Given the description of an element on the screen output the (x, y) to click on. 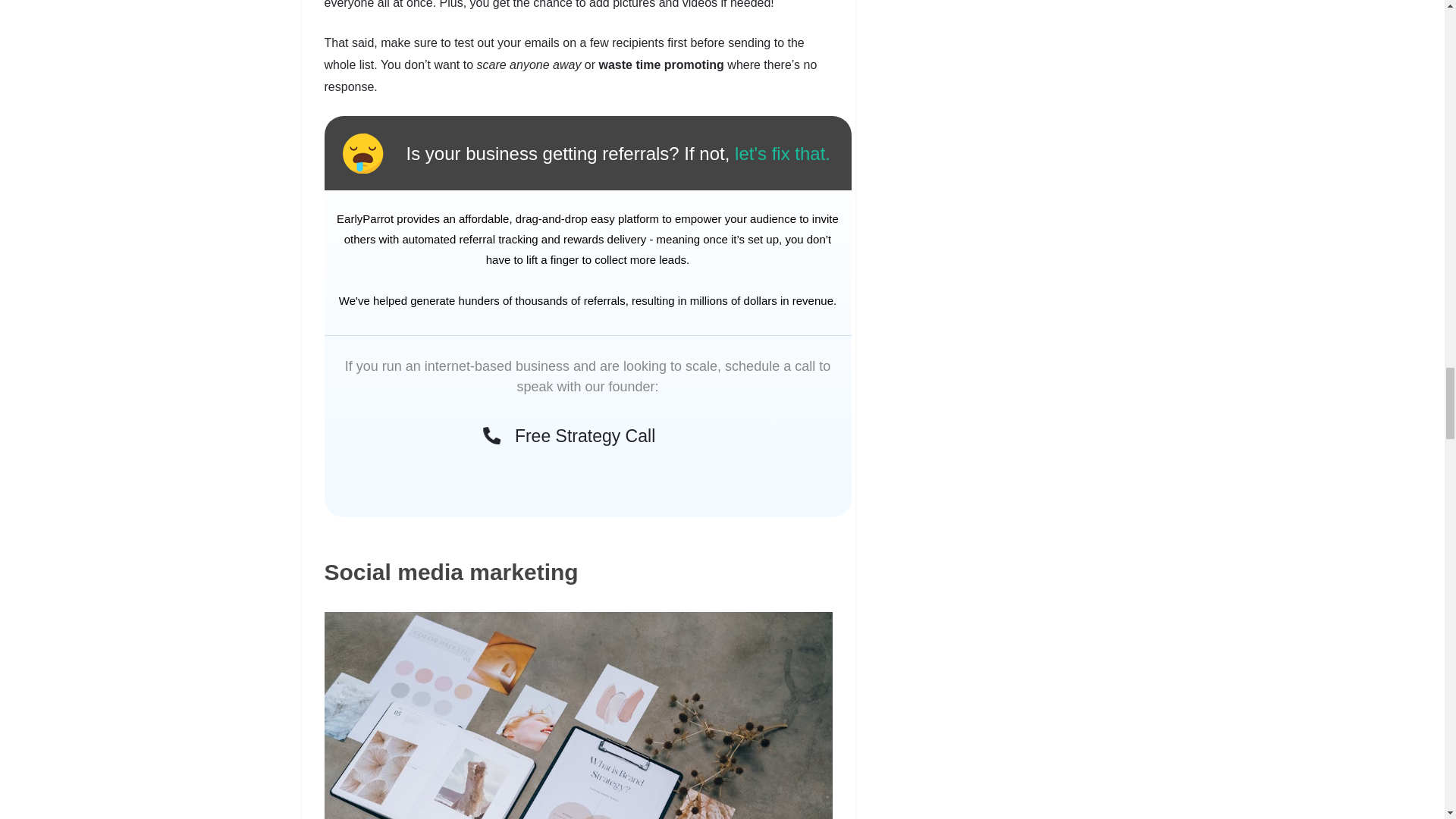
Free Strategy Call (573, 435)
